Given the description of an element on the screen output the (x, y) to click on. 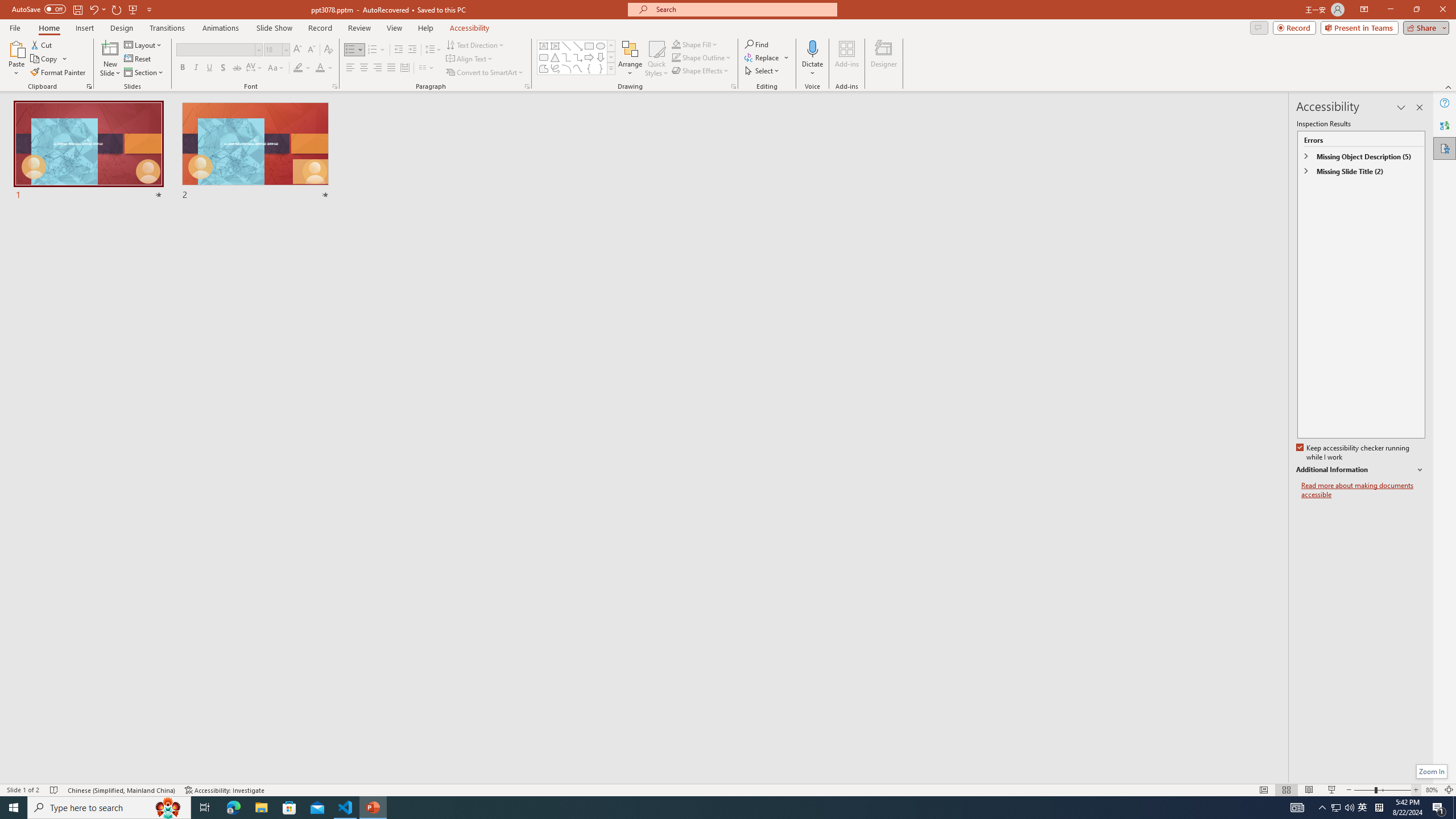
Zoom 80% (1431, 790)
